Given the description of an element on the screen output the (x, y) to click on. 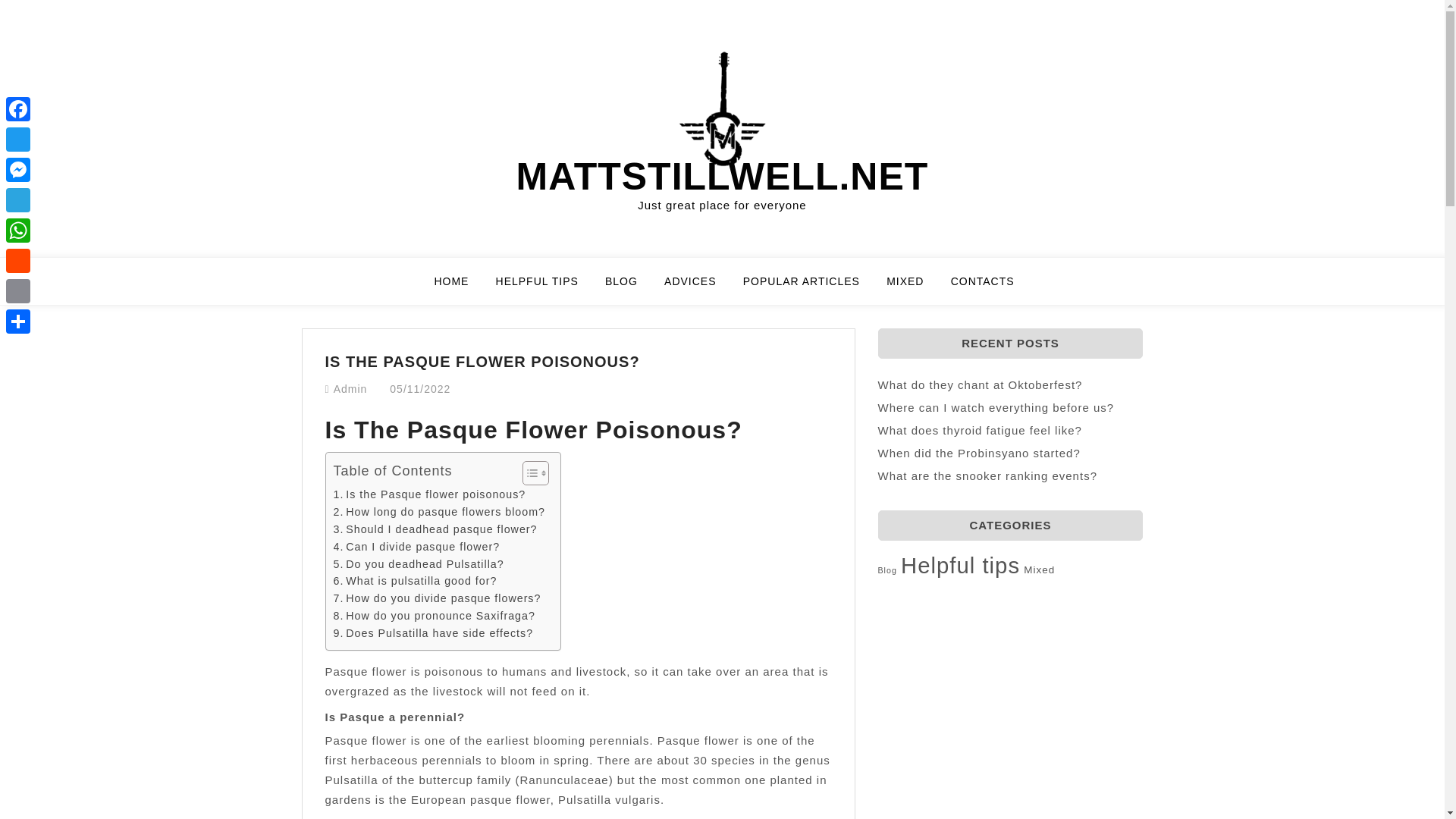
HOME (460, 287)
Do you deadhead Pulsatilla? (418, 564)
How do you divide pasque flowers? (437, 598)
Does Pulsatilla have side effects? (433, 633)
Facebook (17, 109)
What is pulsatilla good for? (415, 580)
How do you pronounce Saxifraga? (434, 615)
HELPFUL TIPS (546, 287)
How long do pasque flowers bloom? (438, 511)
Do you deadhead Pulsatilla? (418, 564)
